Given the description of an element on the screen output the (x, y) to click on. 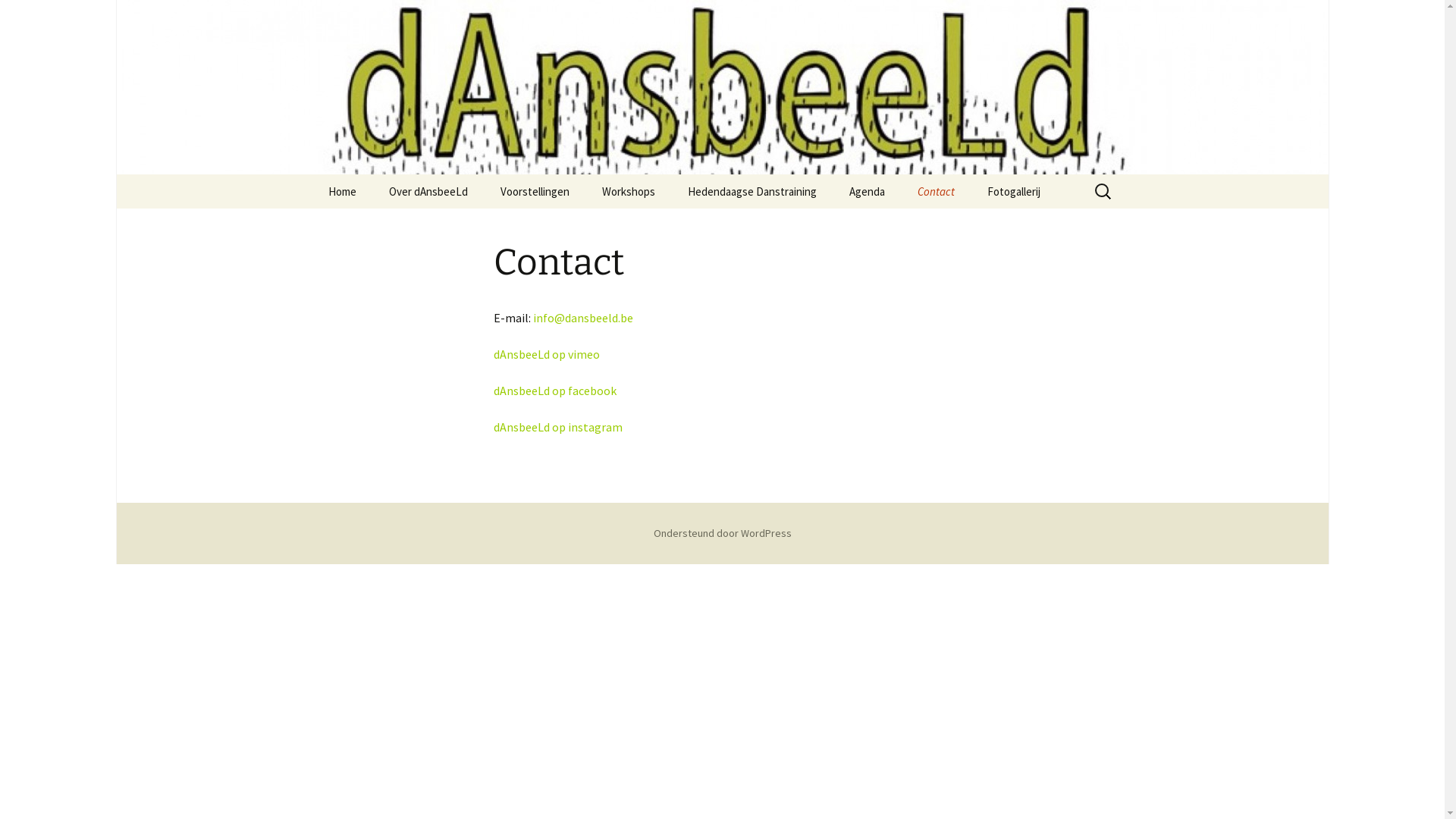
dAnsbeeLd op vimeo Element type: text (545, 353)
Fotogallerij Element type: text (1013, 191)
Home Element type: text (341, 191)
Workshops Element type: text (628, 191)
Voorstellingen Element type: text (534, 191)
Zoeken Element type: text (18, 16)
dAnsbeeLd Element type: text (721, 87)
dAnsbeeLd op facebook Element type: text (553, 390)
Contact Element type: text (935, 191)
Ondersteund door WordPress Element type: text (722, 532)
Hedendaagse Danstraining Element type: text (751, 191)
info@dansbeeld.be Element type: text (582, 317)
Spring naar inhoud Element type: text (312, 173)
dAnsbeeLd op instagram  Element type: text (558, 426)
Over dAnsbeeLd Element type: text (427, 191)
Agenda Element type: text (867, 191)
